Given the description of an element on the screen output the (x, y) to click on. 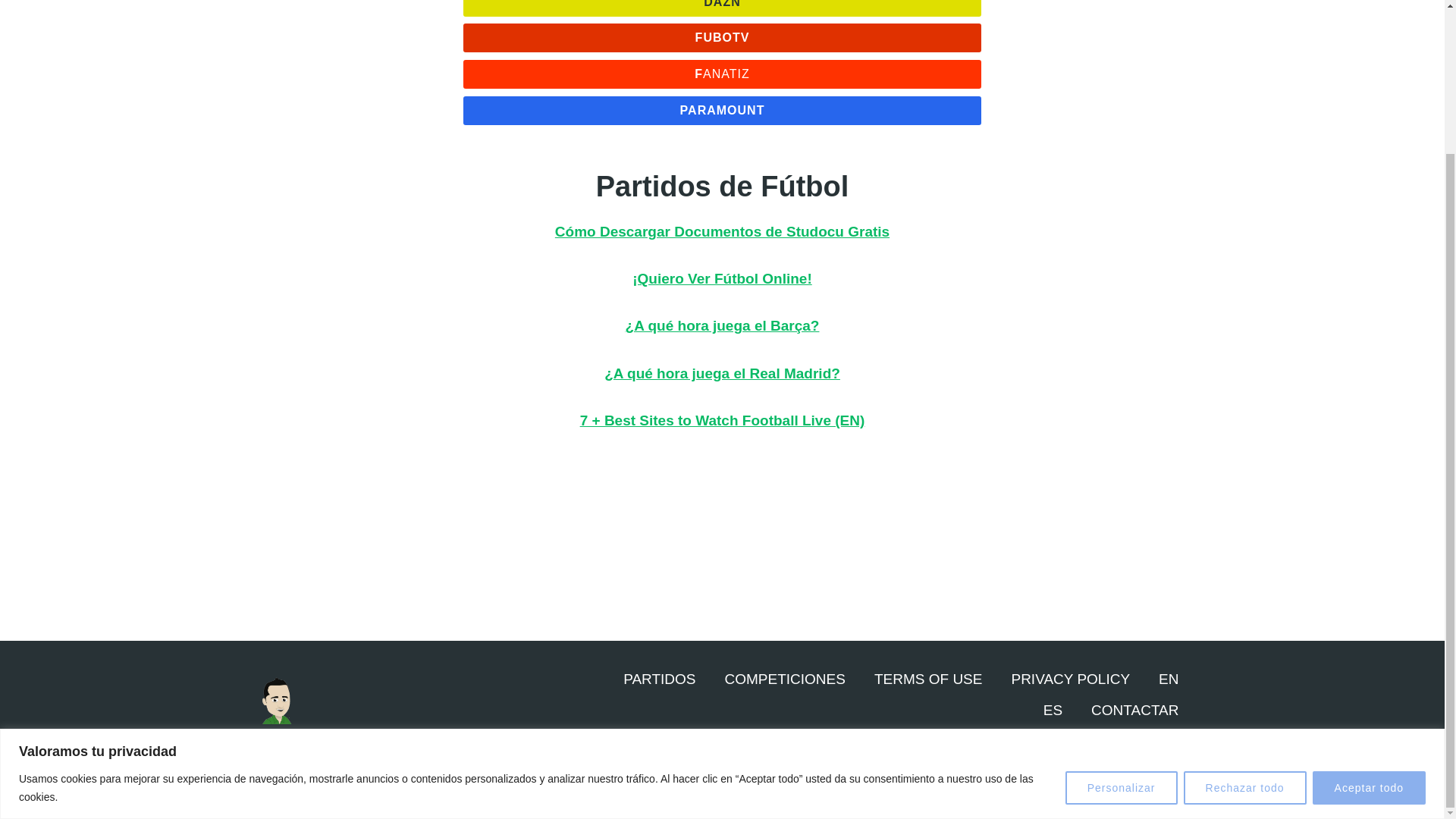
COMPETICIONES (785, 679)
PARTIDOS (659, 679)
FANATIZ (722, 73)
FUBOTV (722, 37)
PARAMOUNT (722, 110)
ES (1053, 711)
Aceptar todo (1369, 608)
EN (1168, 679)
Rechazar todo (1244, 608)
DAZN (722, 7)
